Given the description of an element on the screen output the (x, y) to click on. 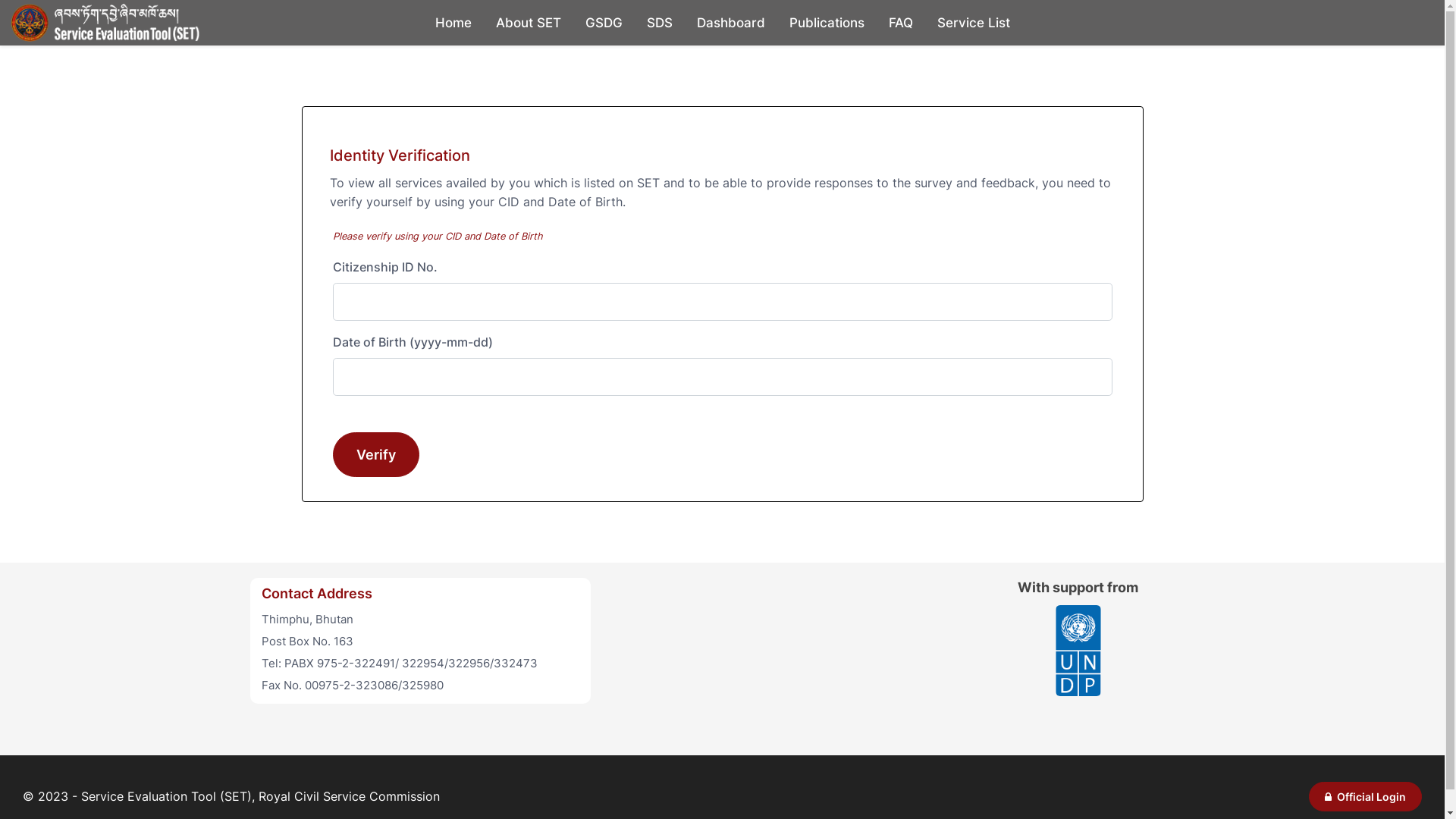
GSDG Element type: text (603, 22)
SDS Element type: text (658, 22)
Home Element type: text (453, 22)
Publications Element type: text (825, 22)
Verify Element type: text (375, 454)
Official Login Element type: text (1364, 796)
Dashboard Element type: text (730, 22)
About SET Element type: text (528, 22)
Service List Element type: text (973, 22)
FAQ Element type: text (900, 22)
